Given the description of an element on the screen output the (x, y) to click on. 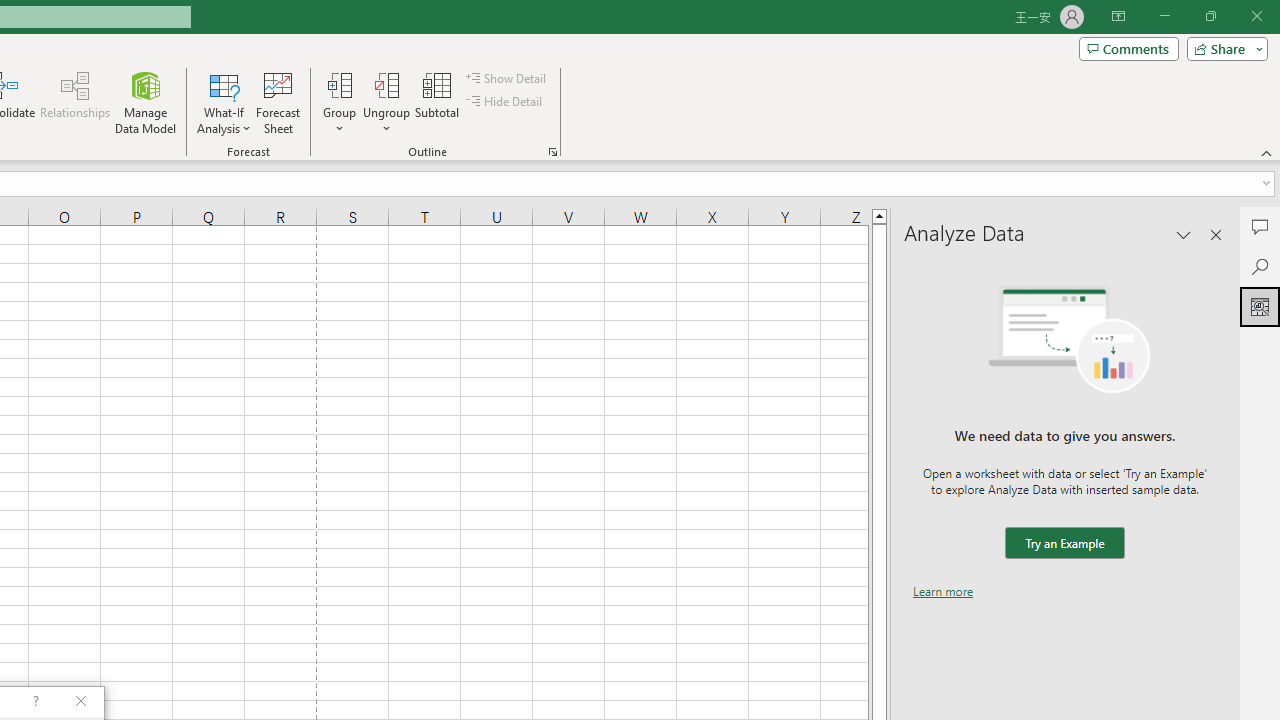
Restore Down (1210, 16)
Ribbon Display Options (1118, 16)
Learn more (943, 591)
Relationships (75, 102)
Task Pane Options (1183, 234)
Close pane (1215, 234)
Subtotal (437, 102)
Minimize (1164, 16)
Group... (339, 84)
We need data to give you answers. Try an Example (1064, 543)
Show Detail (507, 78)
Hide Detail (505, 101)
More Options (386, 121)
